Given the description of an element on the screen output the (x, y) to click on. 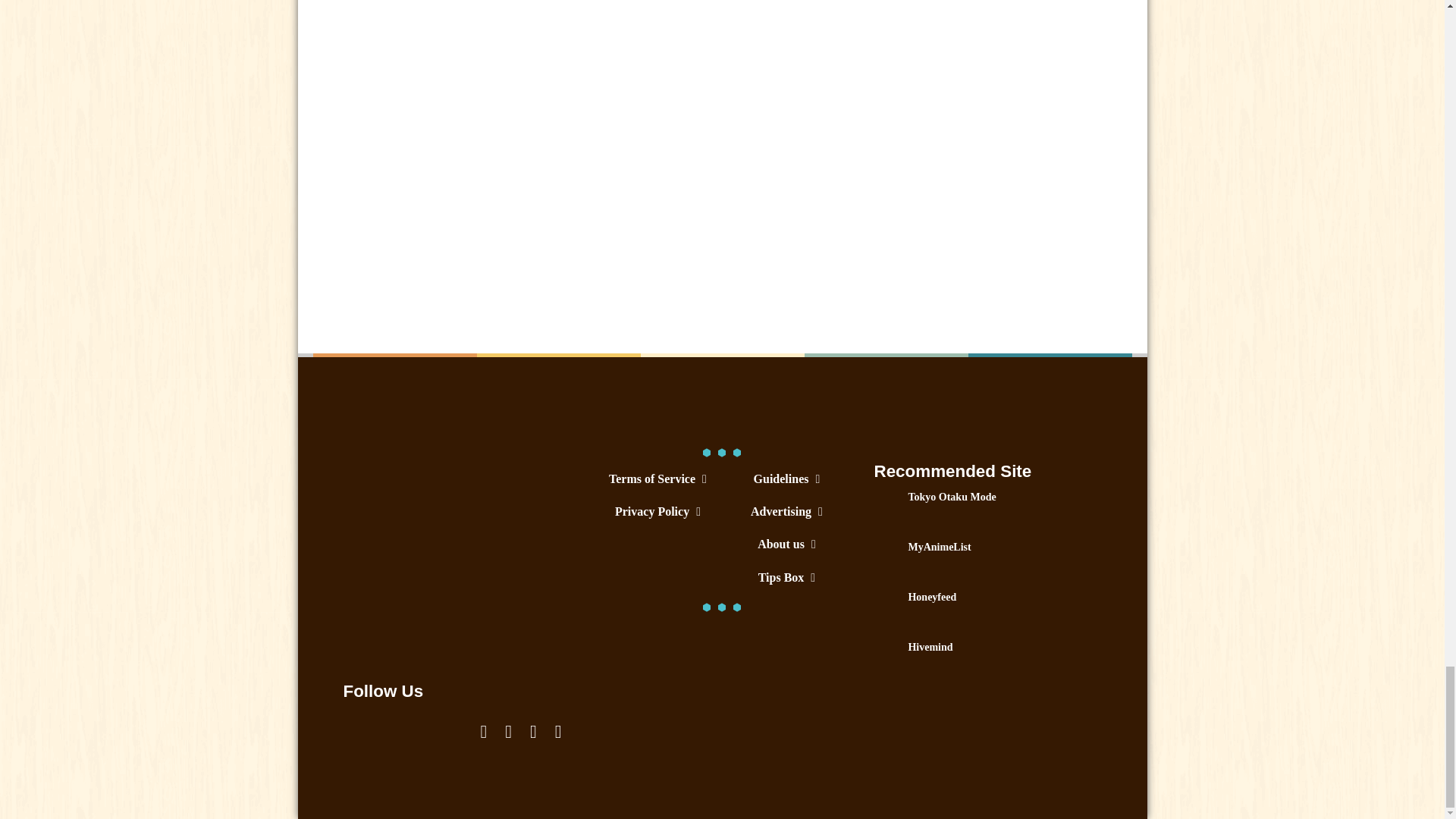
Terms of Service Agreement (657, 478)
Privacy Policy (657, 511)
Guidelines (786, 478)
